Given the description of an element on the screen output the (x, y) to click on. 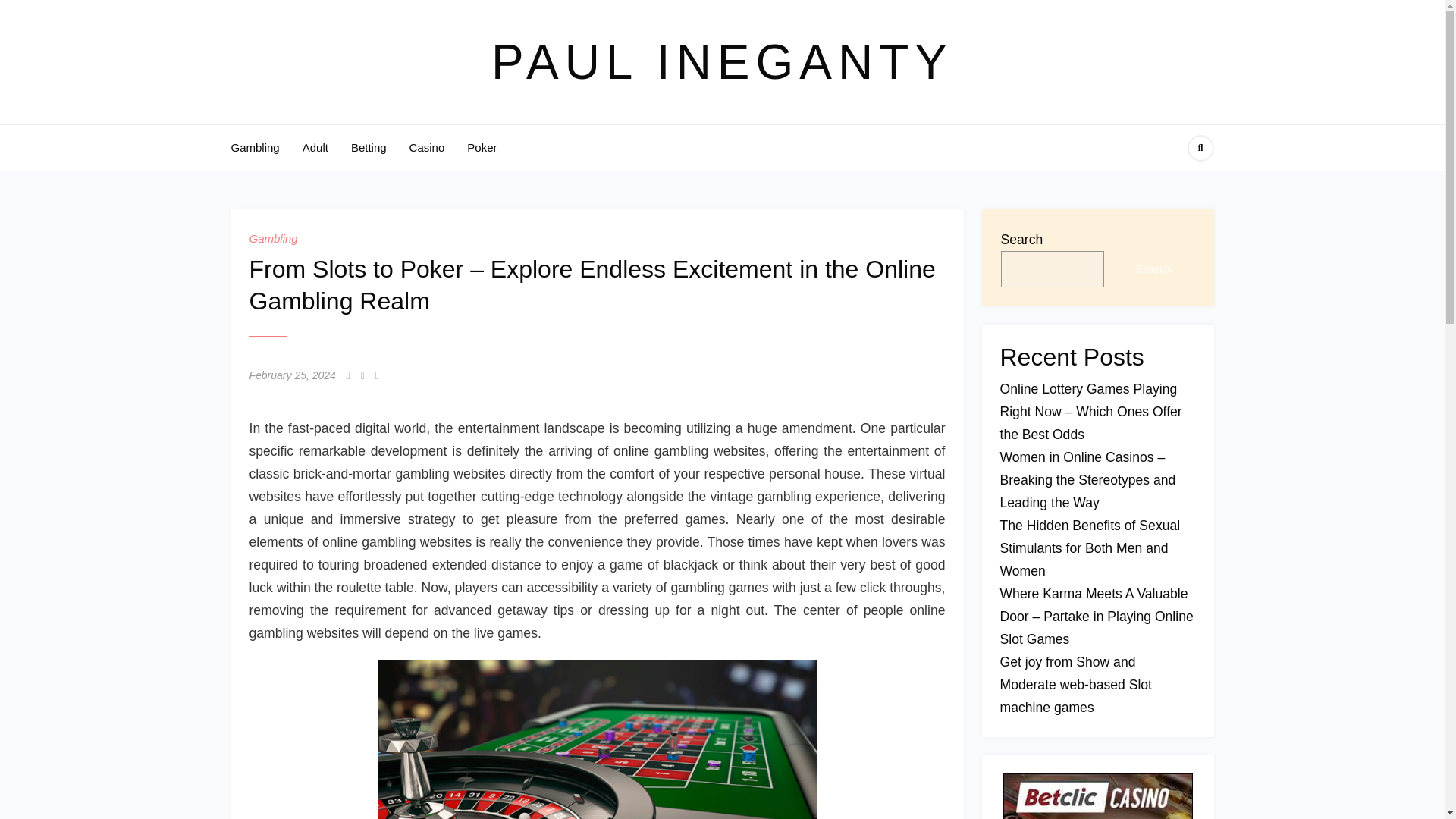
February 25, 2024 (291, 375)
Search (1153, 268)
Gambling (272, 237)
Gambling (254, 147)
PAUL INEGANTY (722, 61)
Get joy from Show and Moderate web-based Slot machine games (1074, 684)
